Given the description of an element on the screen output the (x, y) to click on. 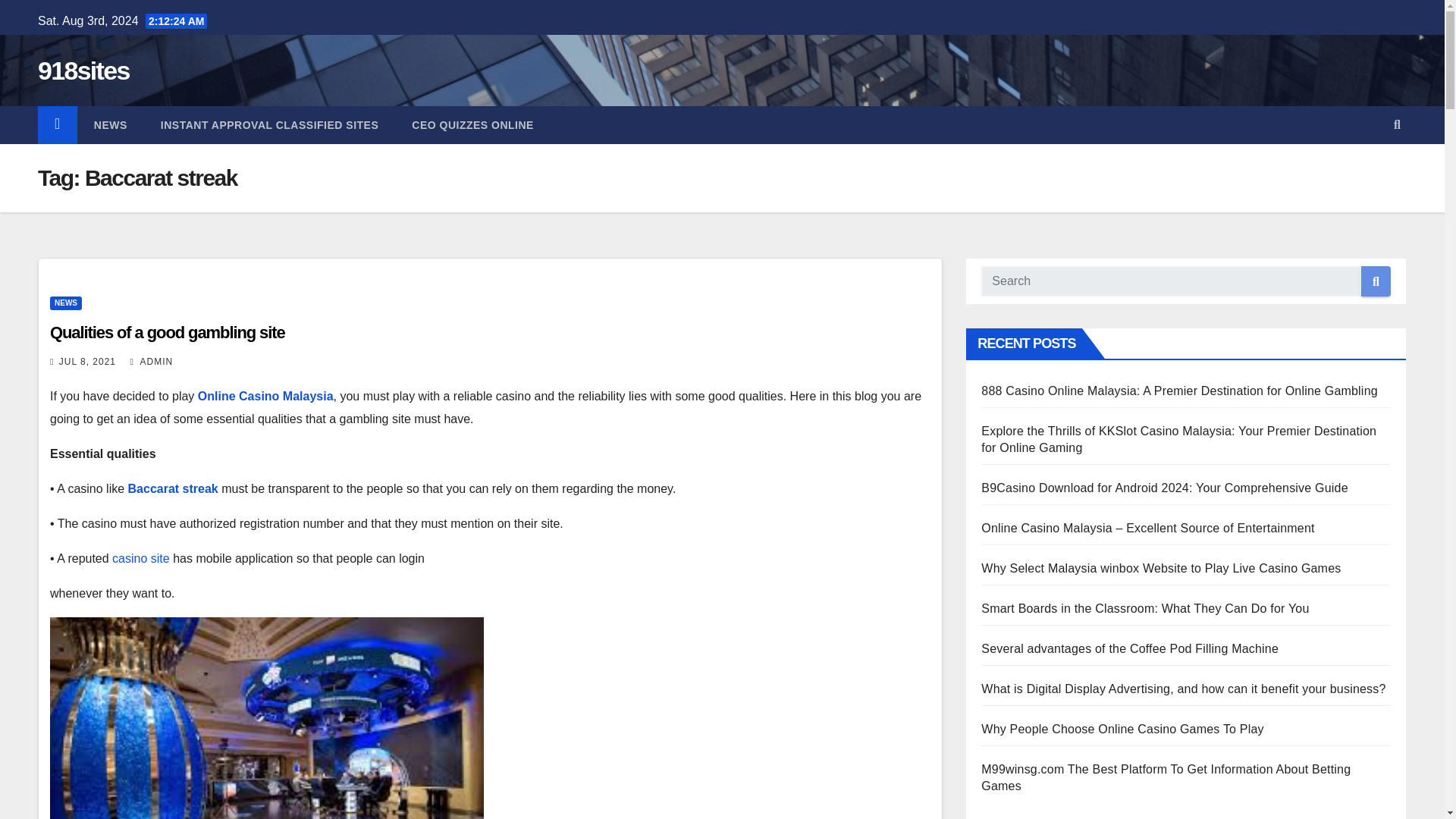
JUL 8, 2021 (87, 361)
NEWS (110, 125)
NEWS (65, 303)
Online Casino Malaysia (265, 395)
casino site (141, 558)
ADMIN (151, 361)
News (110, 125)
Qualities of a good gambling site (167, 332)
CEO QUIZZES ONLINE (472, 125)
INSTANT APPROVAL CLASSIFIED SITES (269, 125)
Instant Approval Classified Sites (269, 125)
918sites (83, 70)
CEO Quizzes Online (472, 125)
Baccarat streak (173, 488)
